Given the description of an element on the screen output the (x, y) to click on. 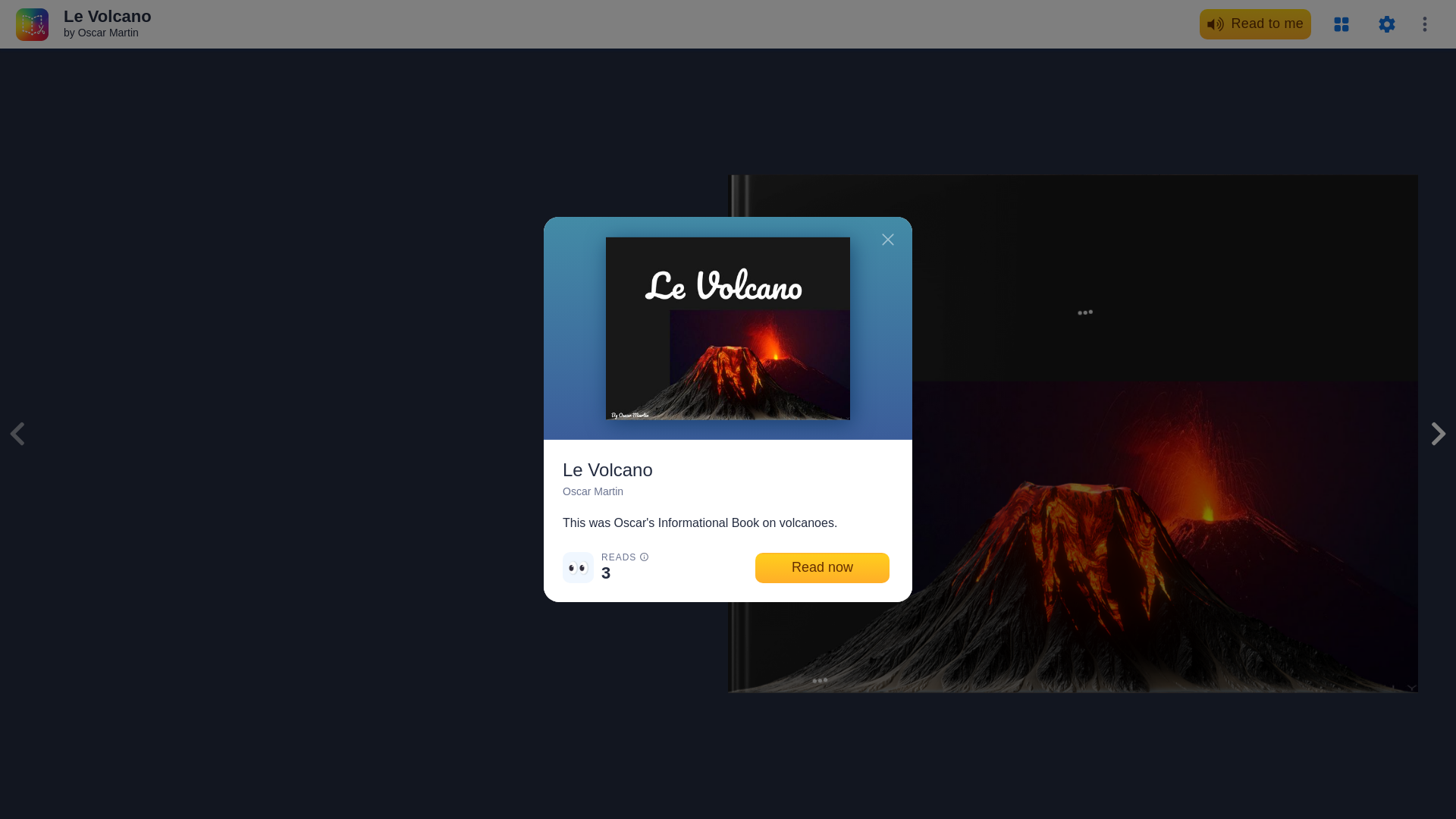
Book Creator (32, 23)
Read to me (1255, 24)
Menu (1424, 24)
Go to Book Creator website (32, 23)
Settings (1386, 24)
Pages (1341, 24)
Read now (822, 567)
